Given the description of an element on the screen output the (x, y) to click on. 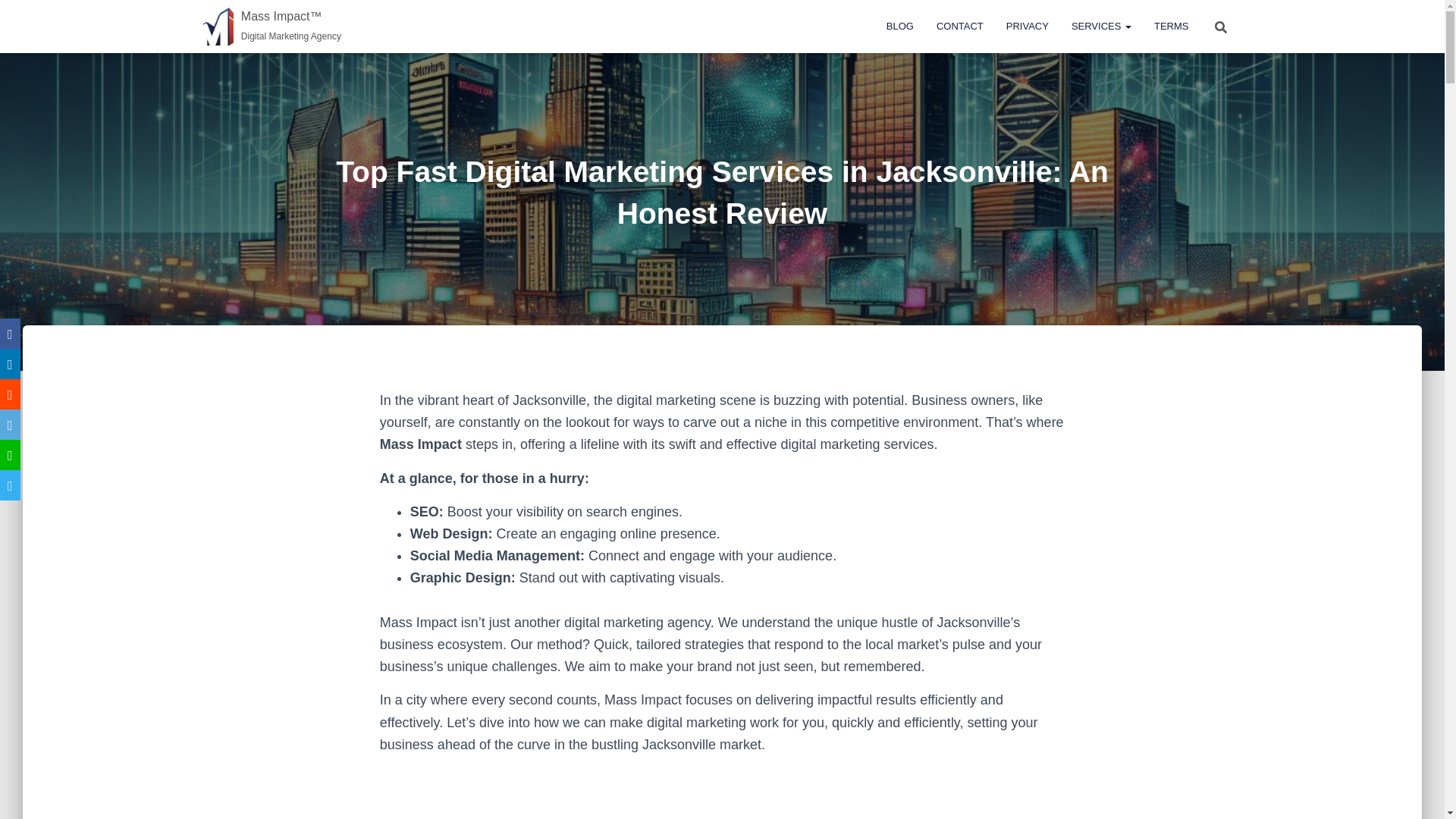
PRIVACY (1026, 26)
PRIVACY (1026, 26)
SERVICES (1100, 26)
CONTACT (959, 26)
BLOG (899, 26)
CONTACT (959, 26)
TERMS (1170, 26)
TERMS (1170, 26)
Search (16, 16)
SERVICES (1100, 26)
